Given the description of an element on the screen output the (x, y) to click on. 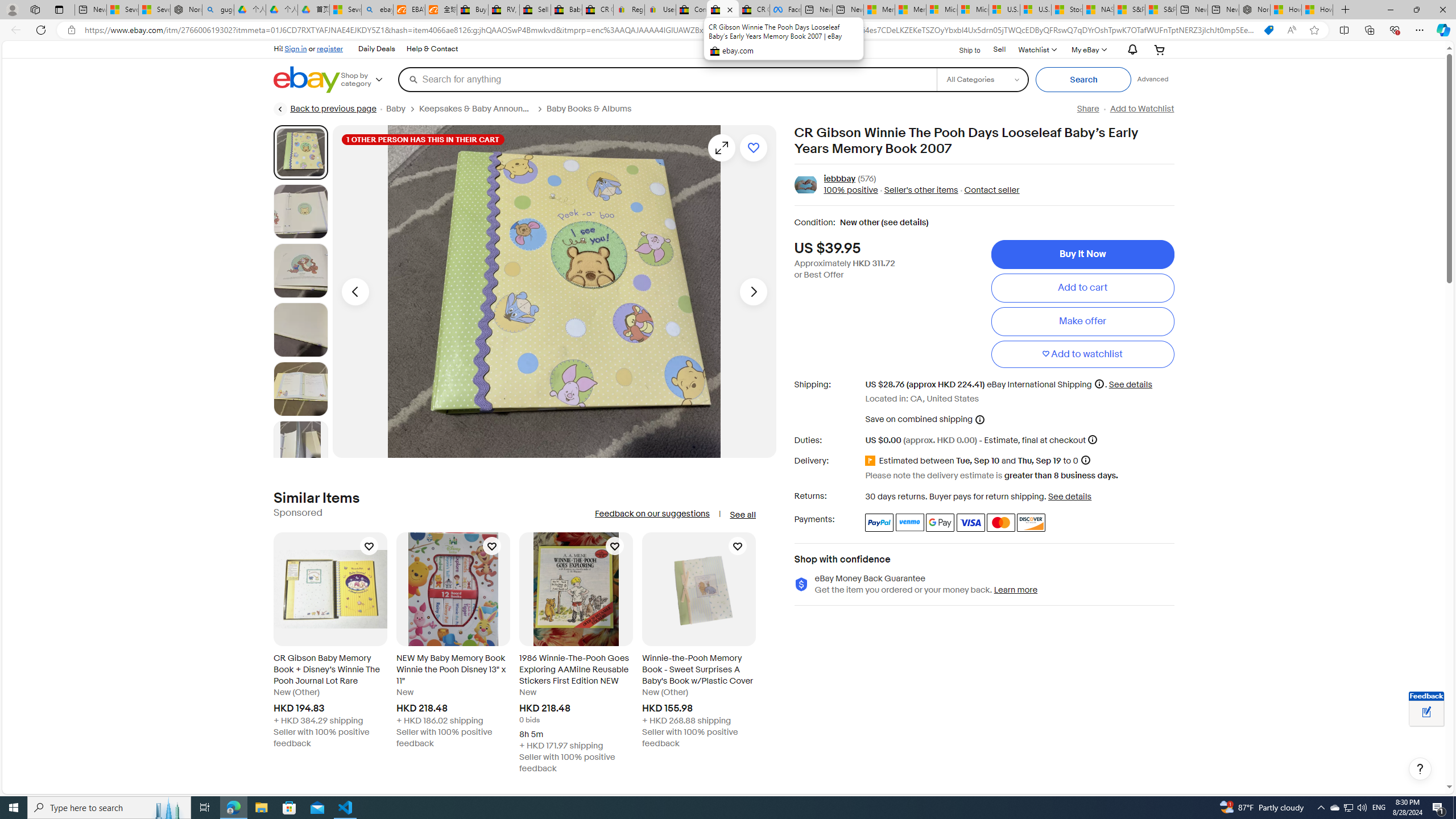
Picture 5 of 22 (300, 388)
Buy It Now (1082, 253)
Picture 5 of 22 (300, 388)
Picture 1 of 22 (300, 152)
Watchlist (1036, 49)
Close (1442, 9)
Contact seller (991, 190)
New tab (1222, 9)
Close tab (730, 9)
Buy It Now (1082, 253)
Opens image gallery (721, 147)
100% positive (850, 190)
